Given the description of an element on the screen output the (x, y) to click on. 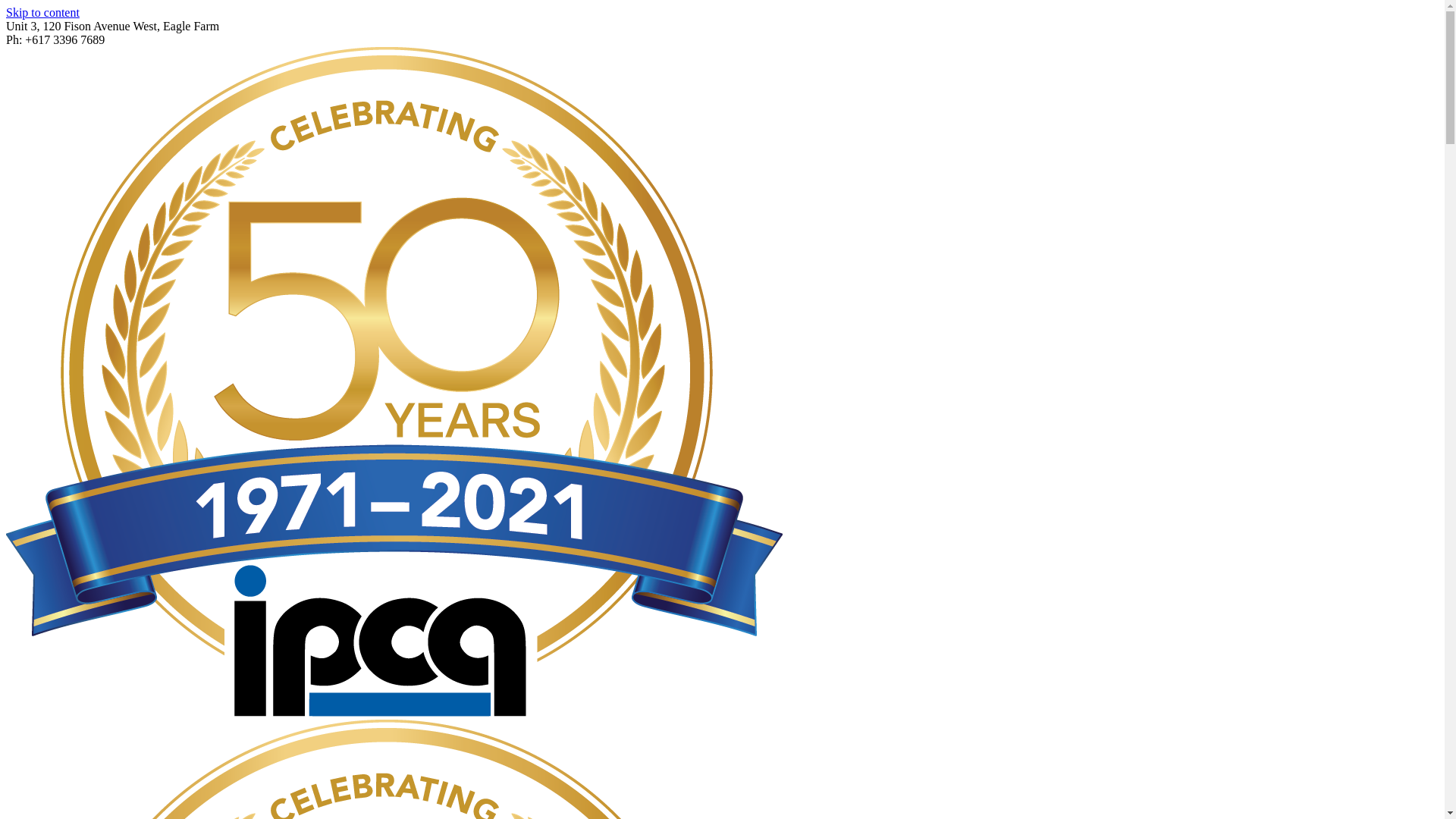
Skip to content Element type: text (42, 12)
IPCQ - INDUSTRIAL PROTECTIVE COATINGS QUEENSLAND Element type: hover (394, 381)
